Given the description of an element on the screen output the (x, y) to click on. 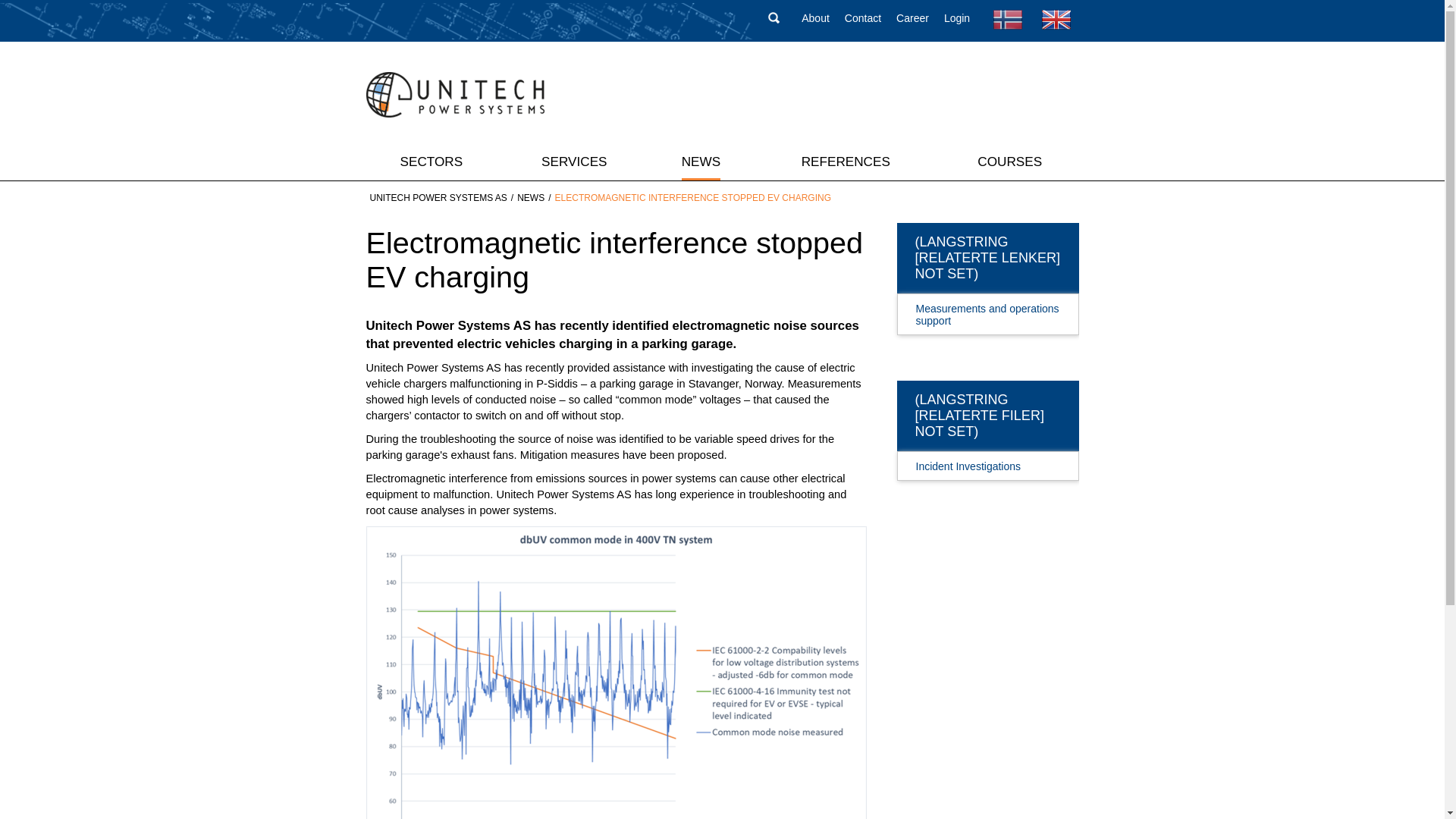
About (815, 18)
NEWS (530, 197)
UNITECH POWER SYSTEMS AS (437, 197)
Measurements and operations support (978, 310)
REFERENCES (845, 160)
COURSES (1009, 160)
SERVICES (574, 160)
Contact (862, 18)
Incident Investigations (978, 462)
Career (912, 18)
